Given the description of an element on the screen output the (x, y) to click on. 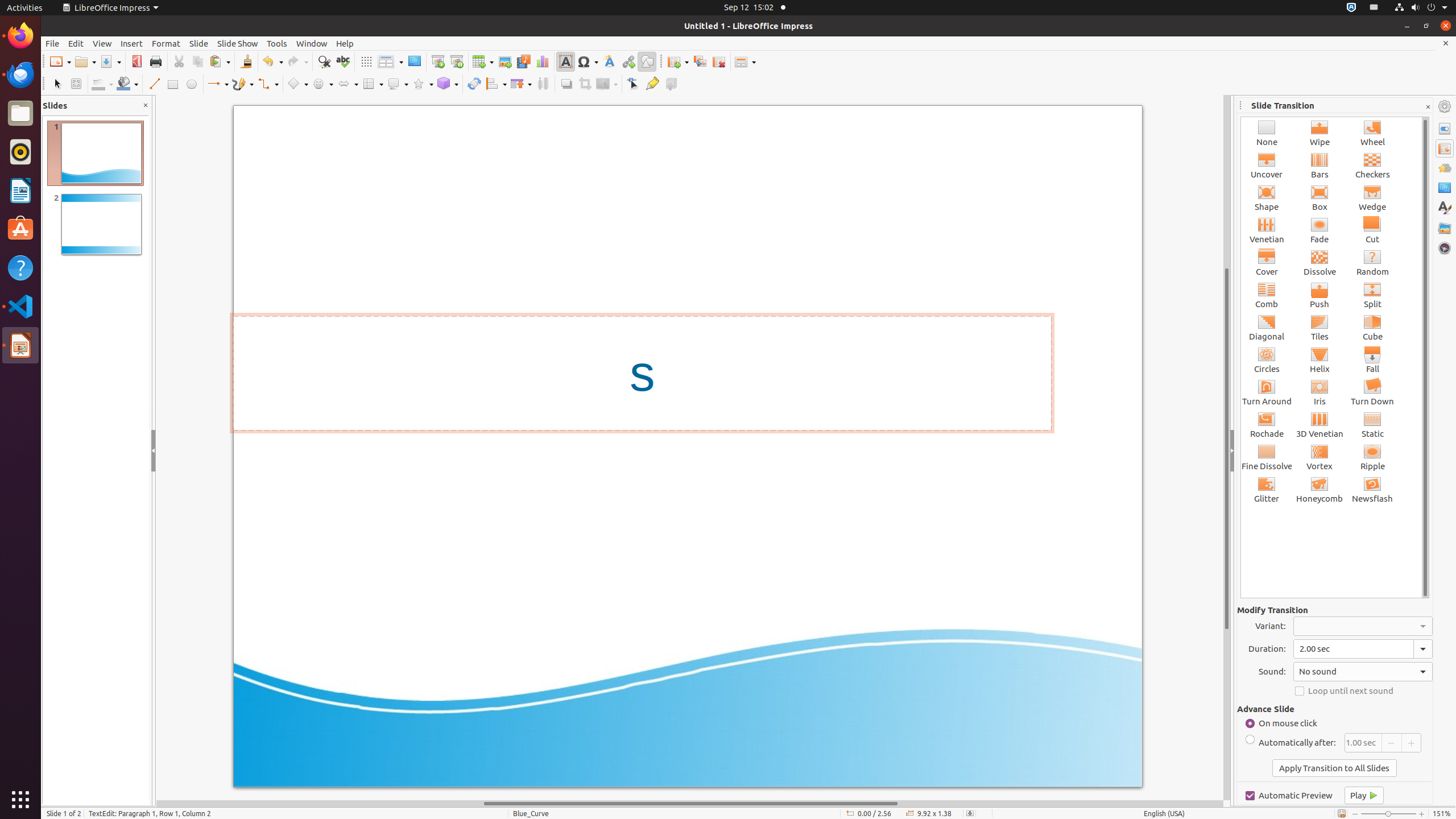
Start from Current Slide Element type: push-button (456, 61)
Format Element type: menu (165, 43)
On mouse click Element type: radio-button (1332, 723)
Hyperlink Element type: toggle-button (627, 61)
Arrange Element type: push-button (520, 83)
